Given the description of an element on the screen output the (x, y) to click on. 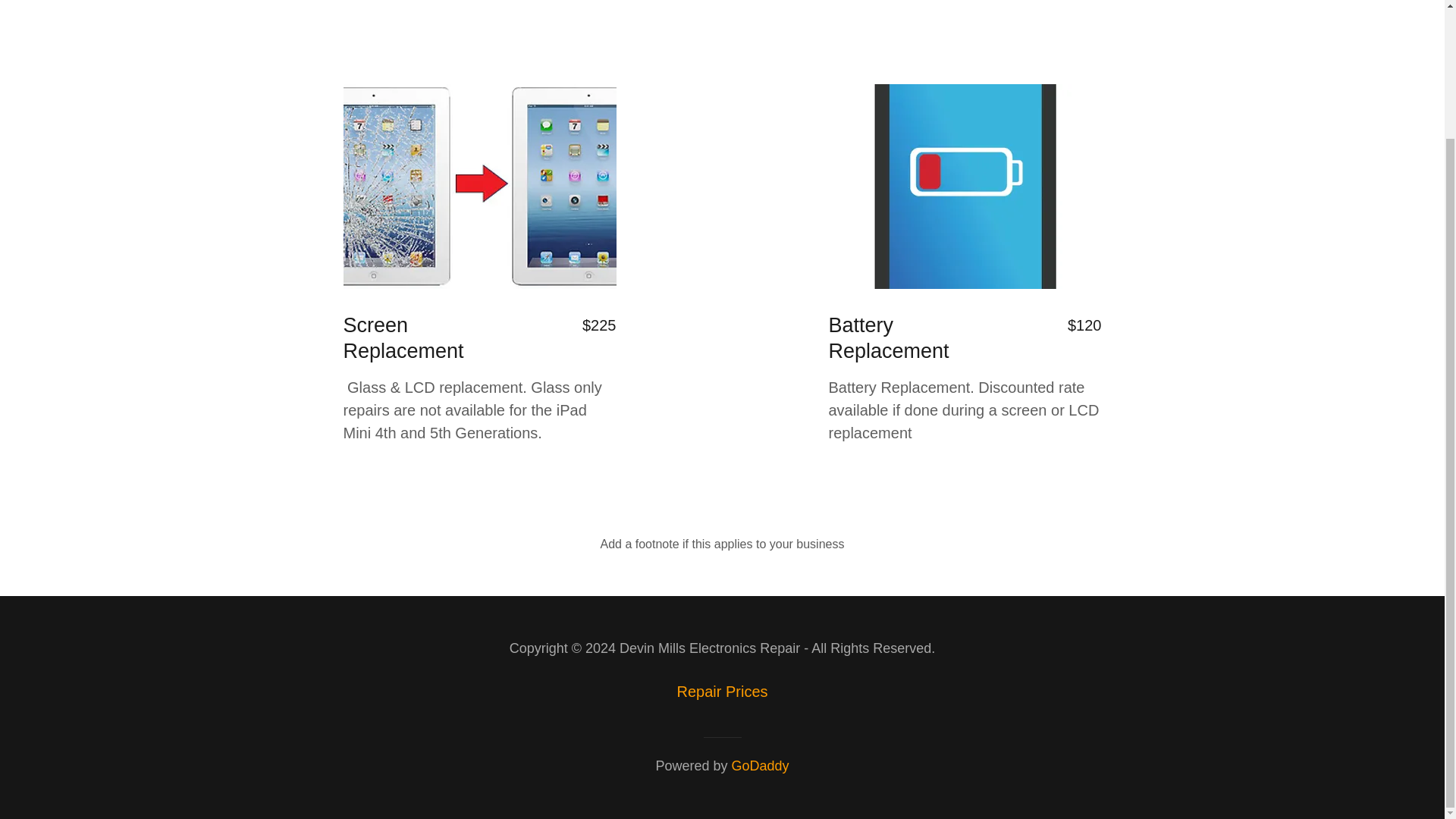
Repair Prices (721, 691)
GoDaddy (759, 765)
